Given the description of an element on the screen output the (x, y) to click on. 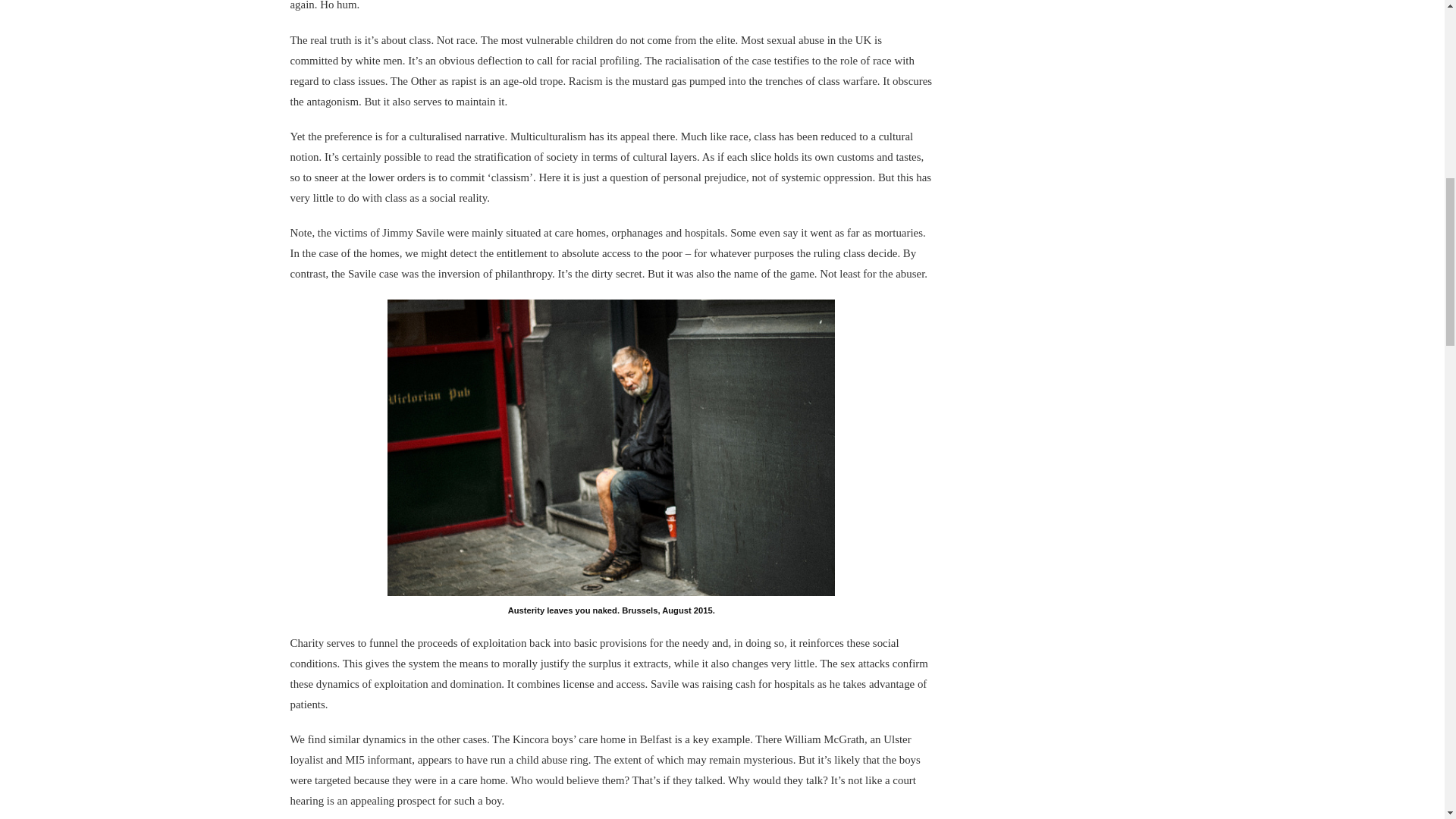
Folk Devils of the Far-Right (610, 447)
